Given the description of an element on the screen output the (x, y) to click on. 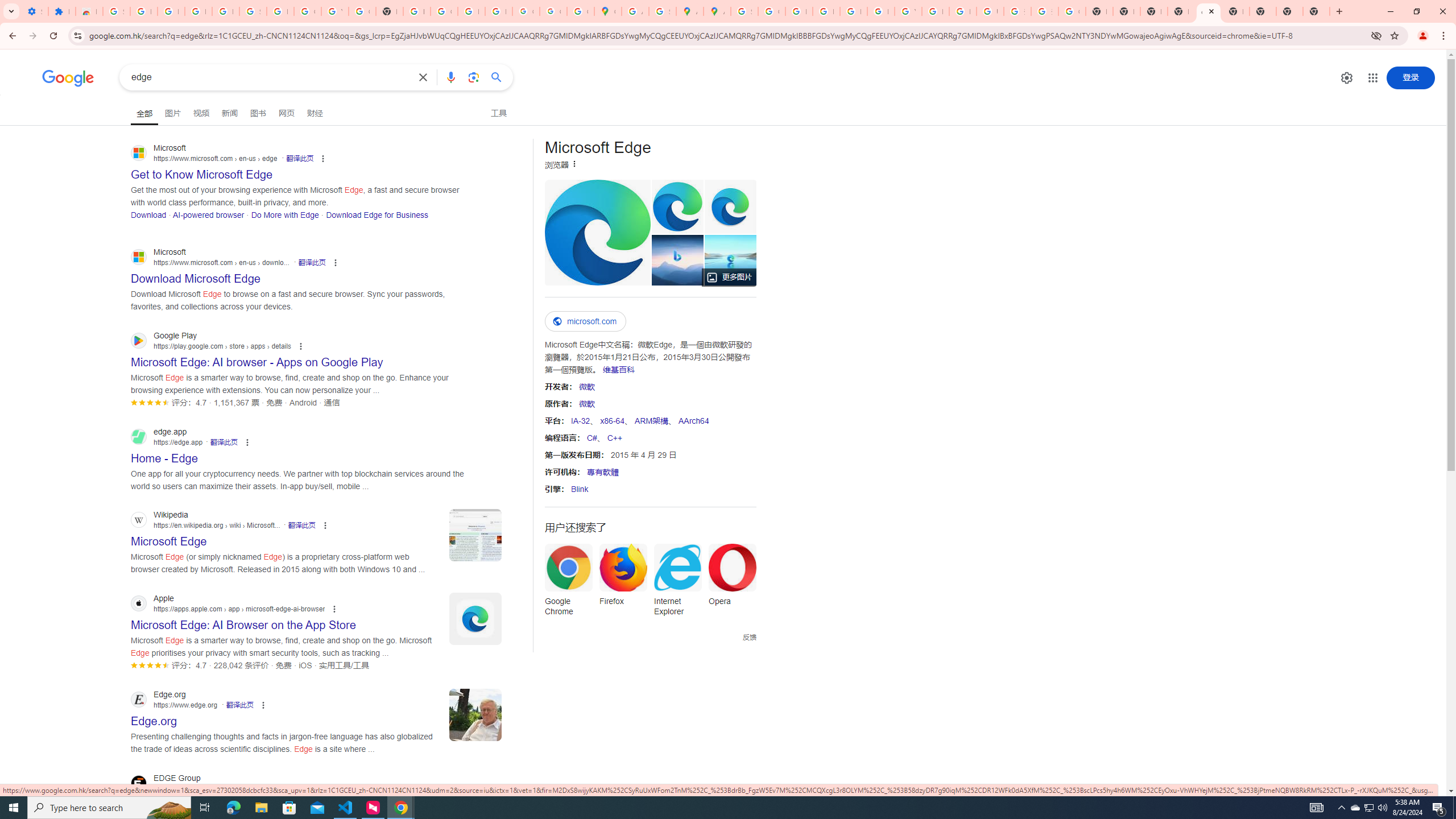
Google Maps (607, 11)
Privacy Help Center - Policies Help (799, 11)
Google Account (307, 11)
Microsoft Edge help & learning (677, 260)
Privacy Help Center - Policies Help (826, 11)
